Given the description of an element on the screen output the (x, y) to click on. 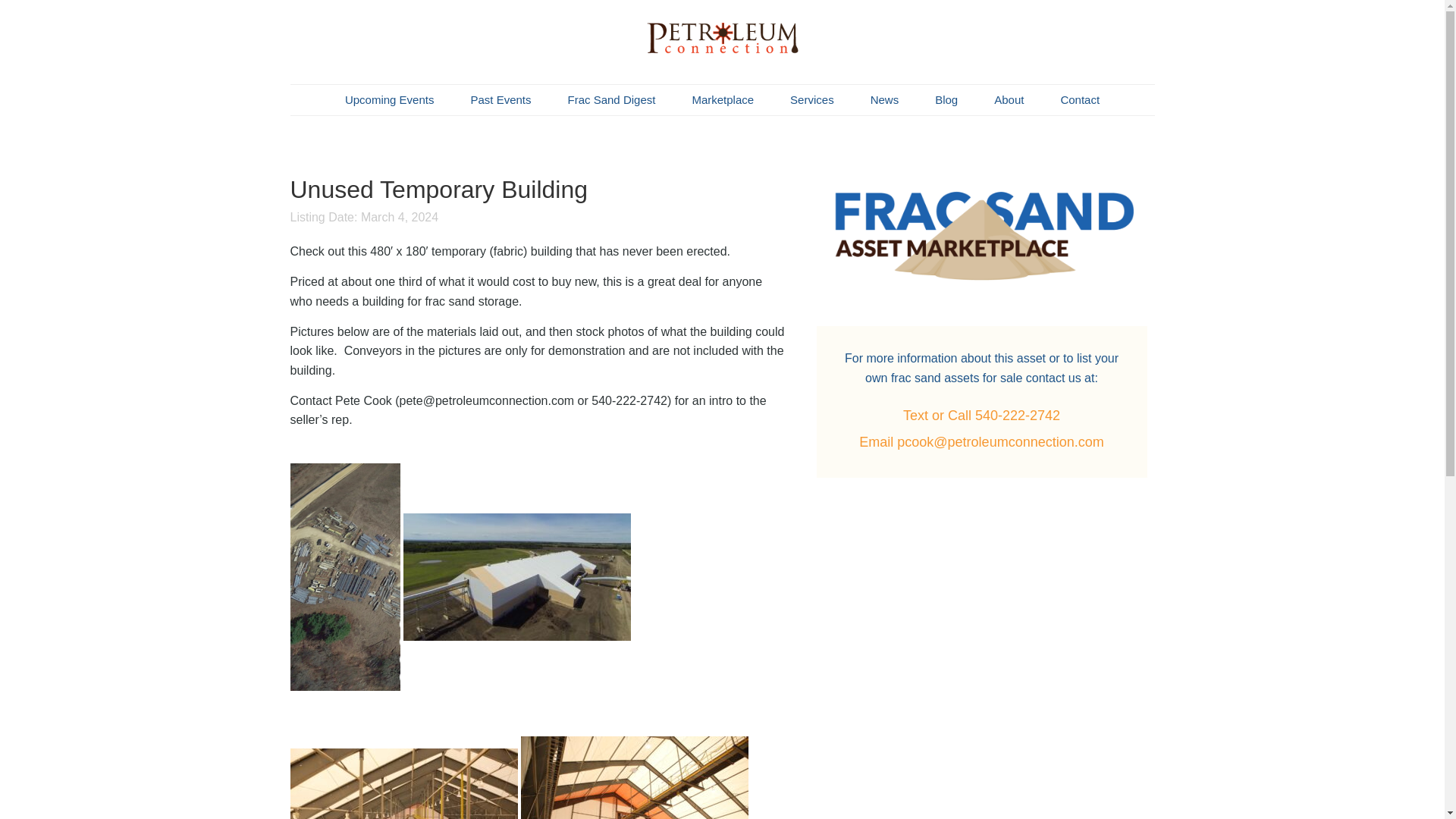
Marketplace (721, 99)
Text or Call 540-222-2742 (981, 415)
News (884, 99)
Past Events (499, 99)
About (1008, 99)
Frac Sand Digest (612, 99)
Contact (1080, 99)
Services (811, 99)
Upcoming Events (389, 99)
Blog (946, 99)
